Given the description of an element on the screen output the (x, y) to click on. 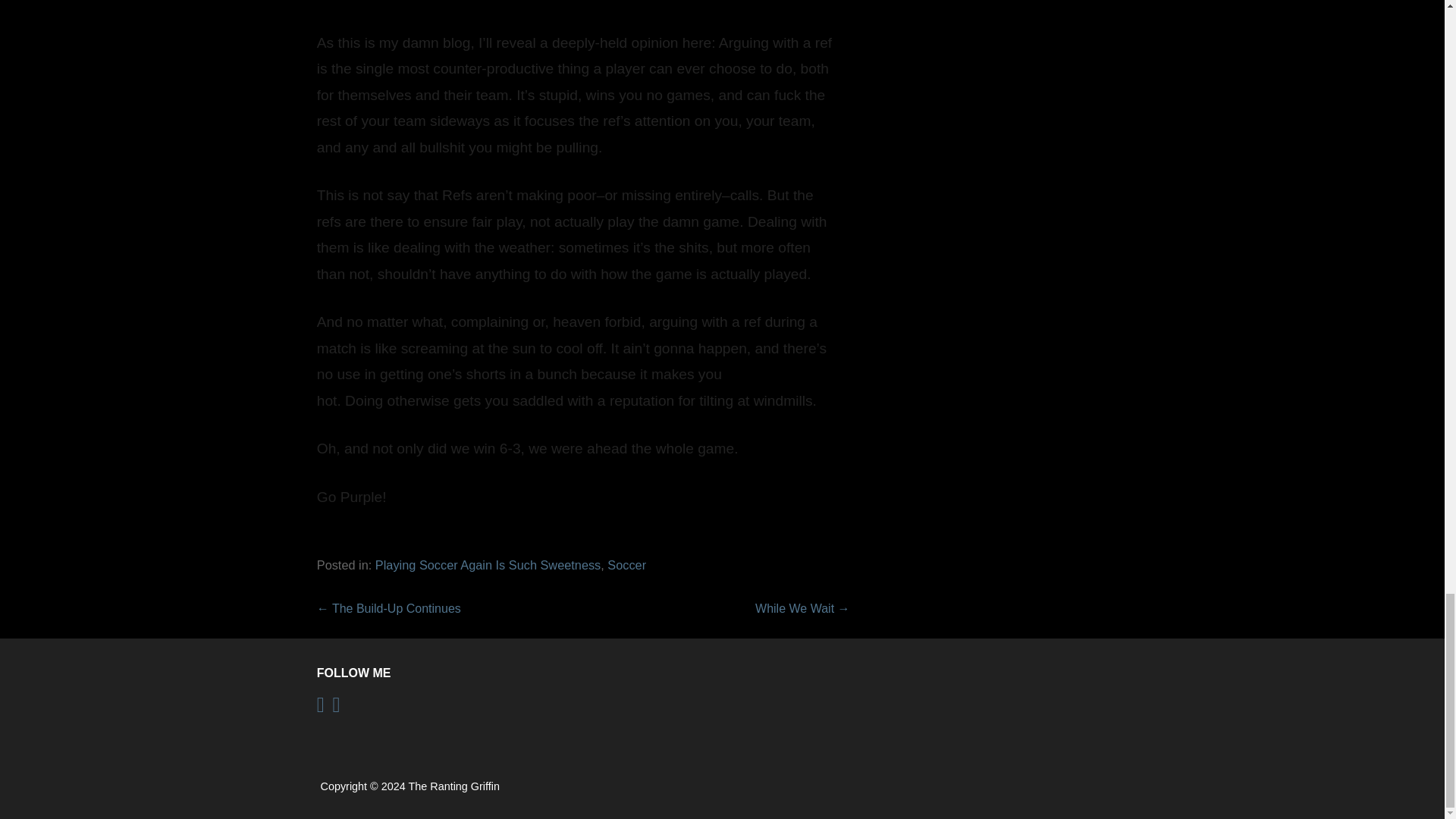
Soccer (626, 564)
Playing Soccer Again Is Such Sweetness (487, 564)
